Given the description of an element on the screen output the (x, y) to click on. 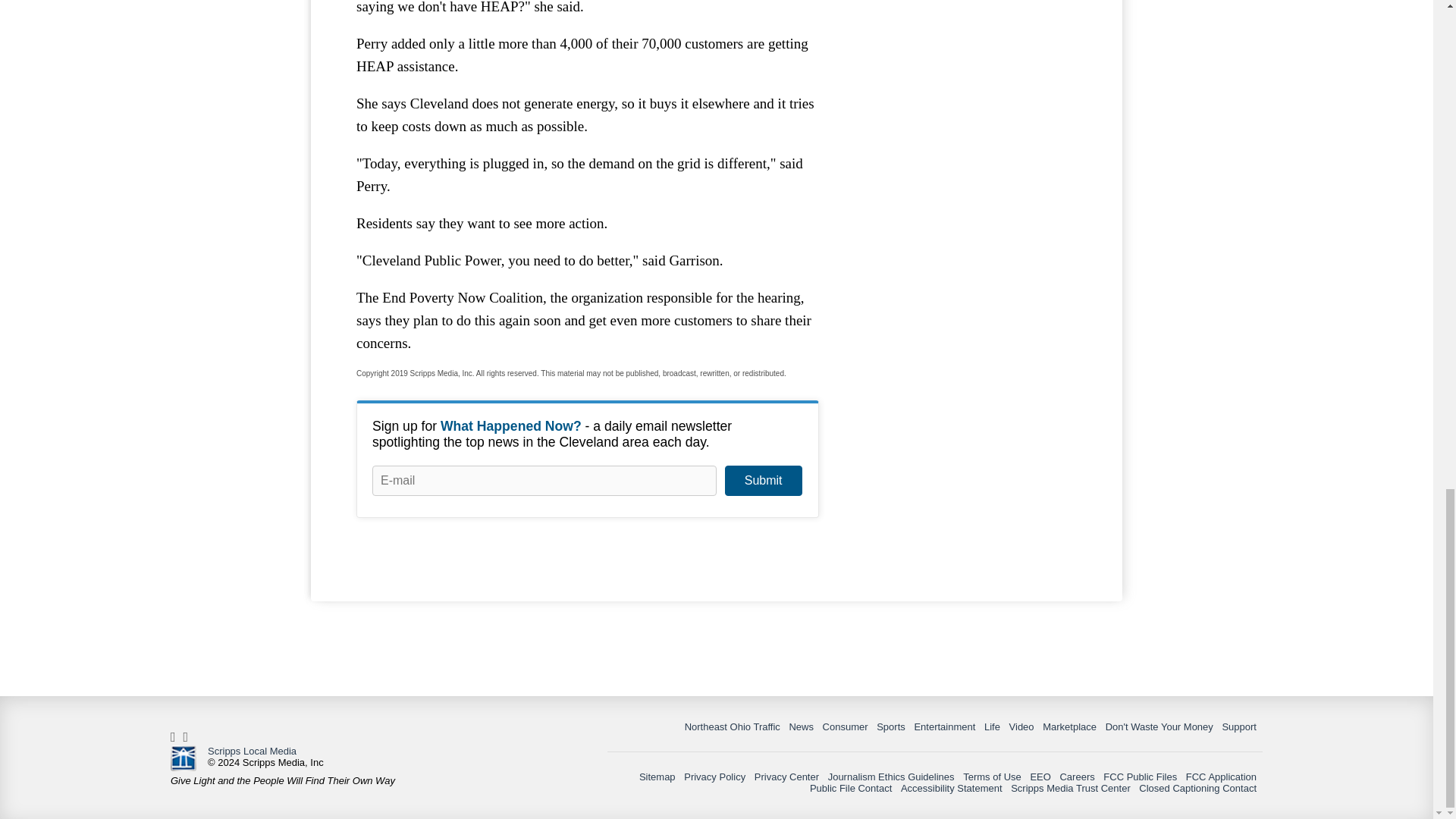
Submit (763, 481)
